Given the description of an element on the screen output the (x, y) to click on. 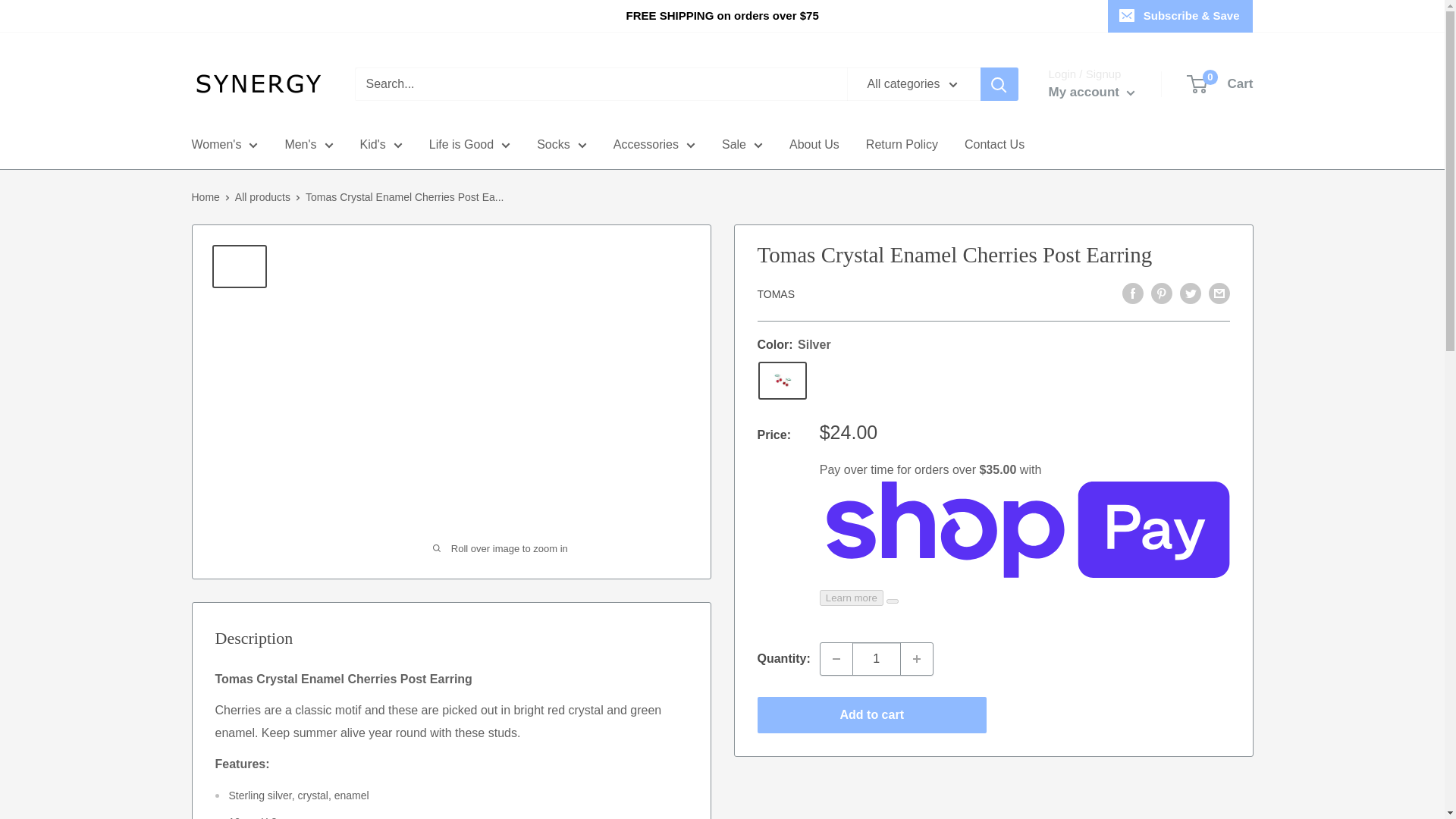
1 (876, 658)
Increase quantity by 1 (917, 658)
Decrease quantity by 1 (836, 658)
Silver (782, 380)
